Given the description of an element on the screen output the (x, y) to click on. 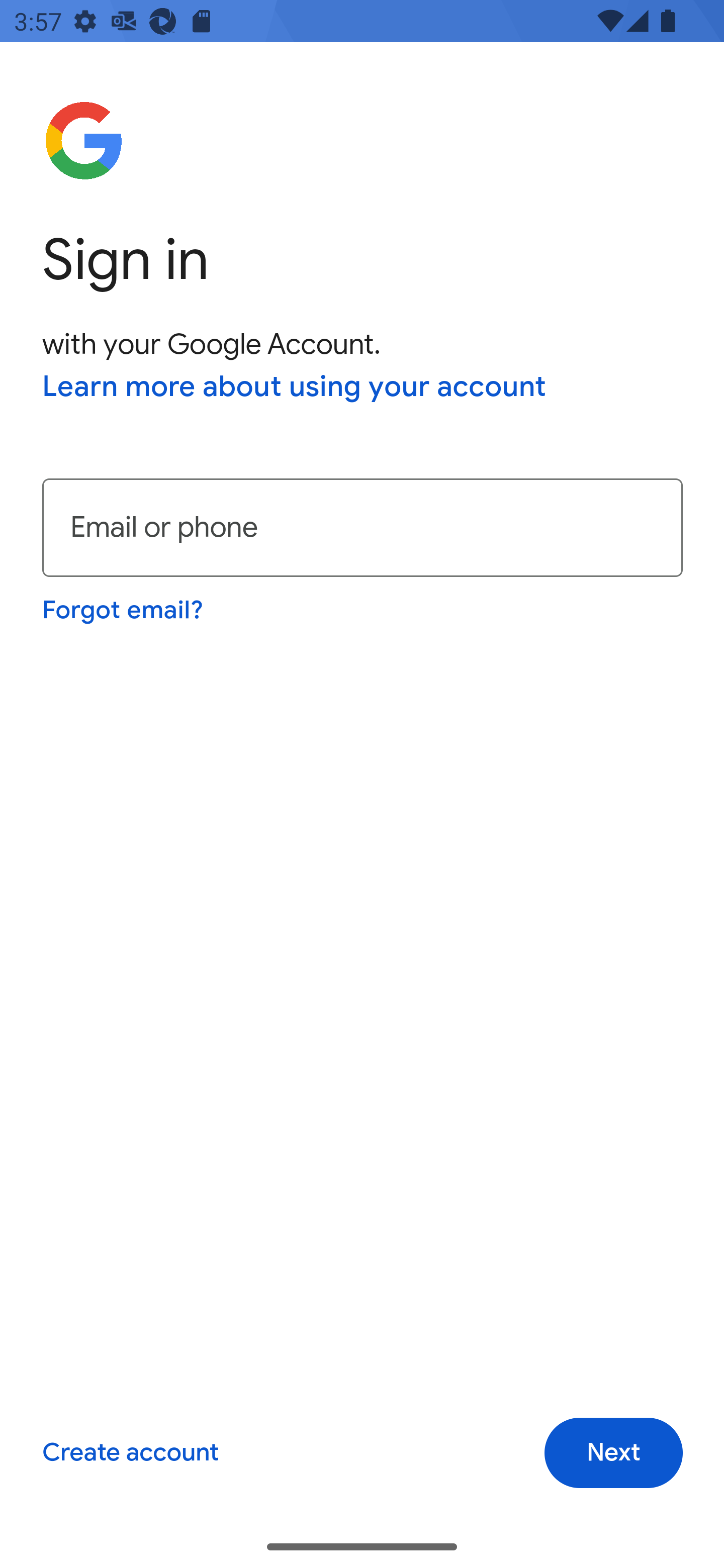
Learn more about using your account (294, 388)
Forgot email? (123, 609)
Next (613, 1453)
Create account (129, 1453)
